Given the description of an element on the screen output the (x, y) to click on. 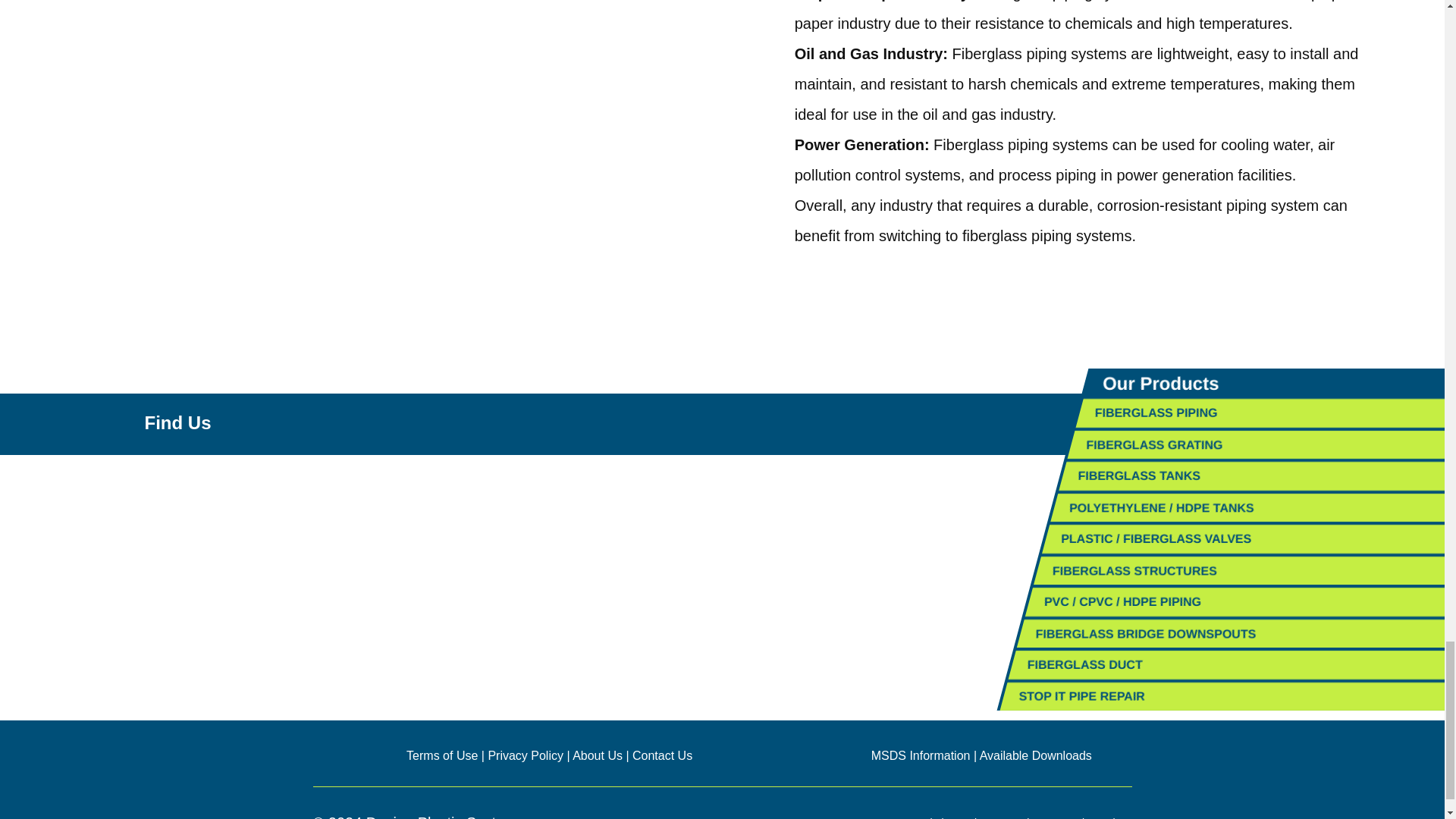
Privacy Policy (525, 755)
Contact Us (662, 755)
Terms of Use (441, 755)
About Us (597, 755)
Available Downloads (1035, 755)
MSDS Information (920, 755)
